Given the description of an element on the screen output the (x, y) to click on. 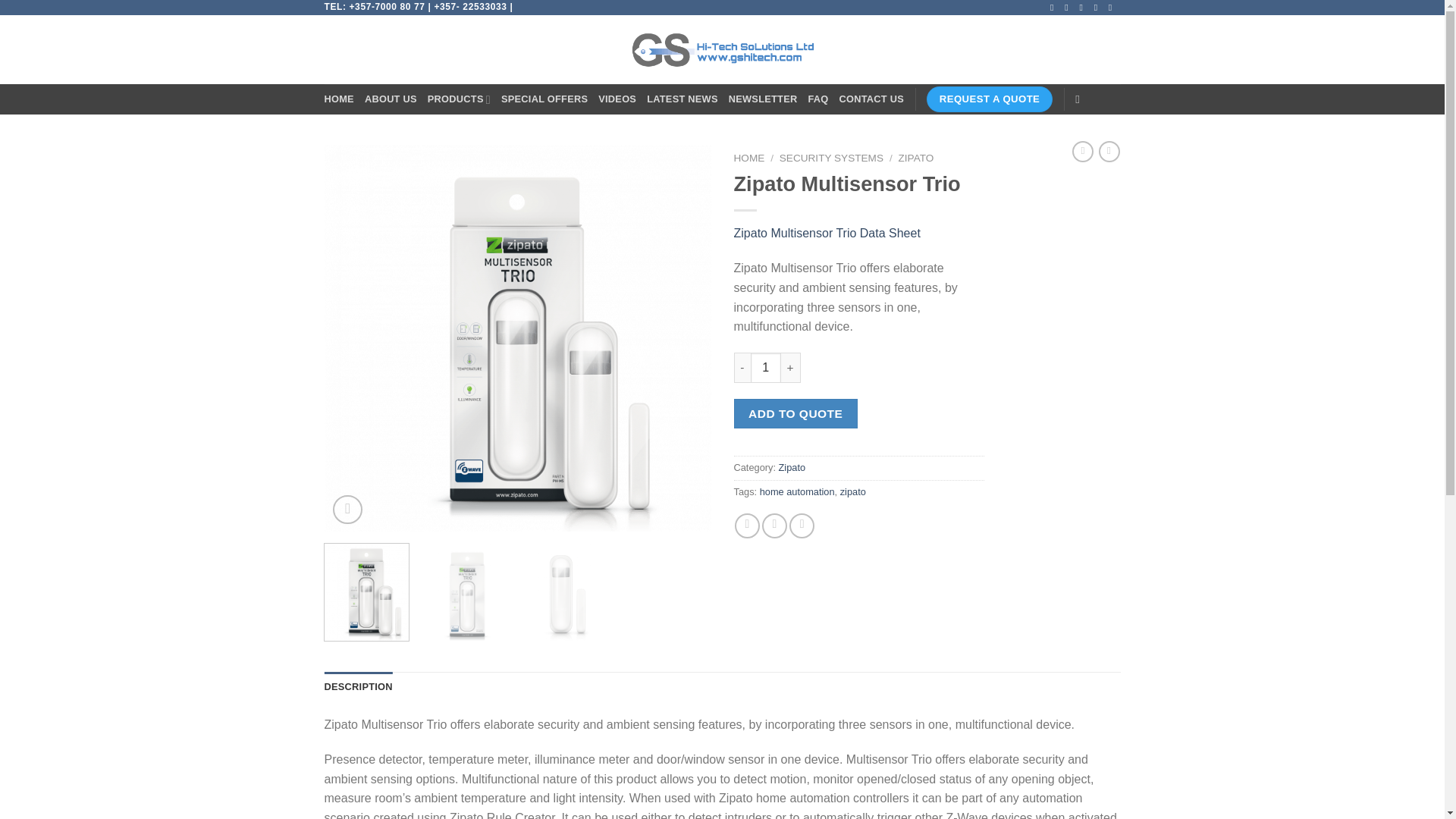
PRODUCTS (459, 99)
ABOUT US (390, 99)
HOME (338, 99)
1 (765, 367)
Qty (765, 367)
